Given the description of an element on the screen output the (x, y) to click on. 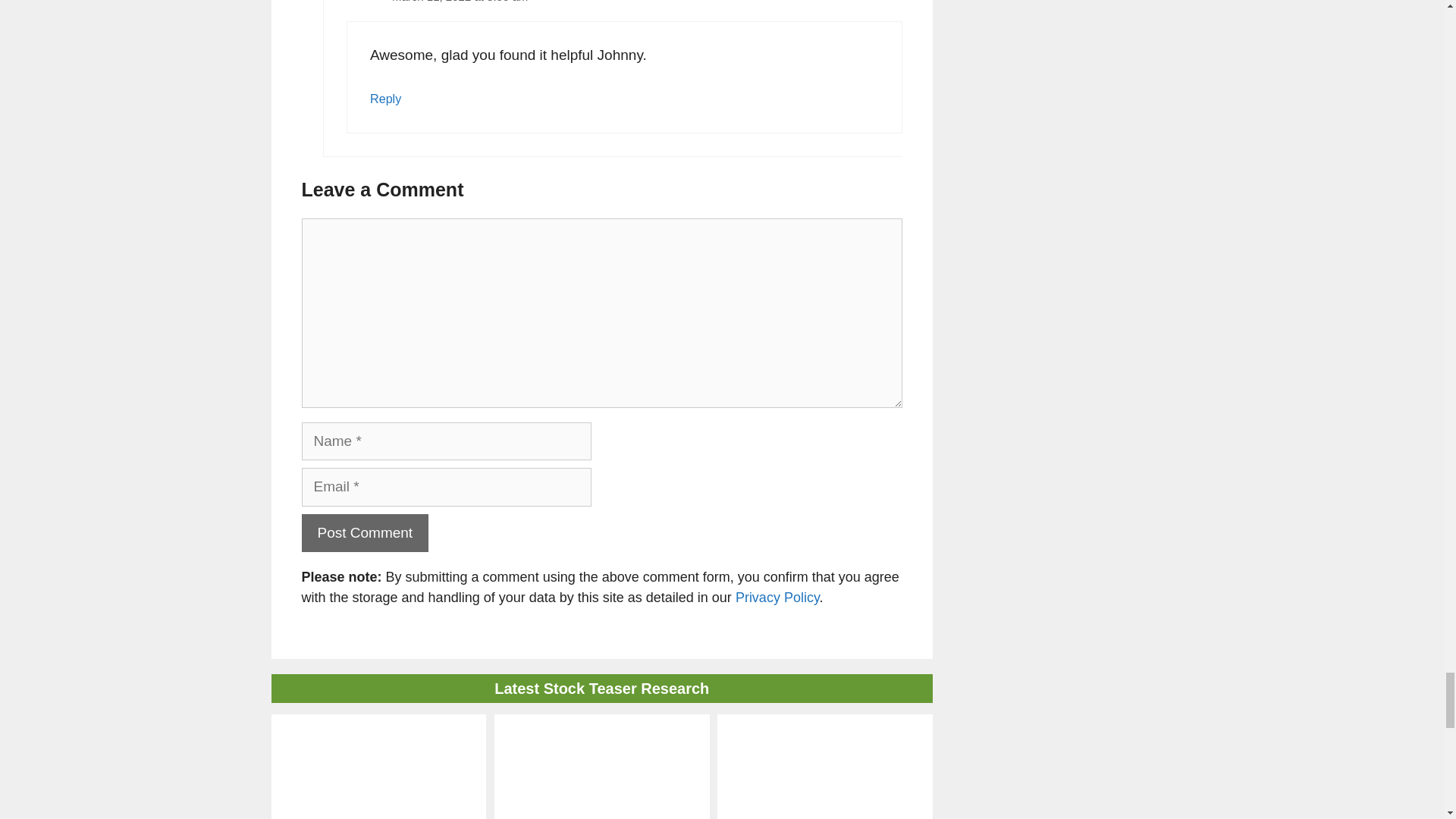
March 11, 2022 at 8:00 am (459, 1)
Post Comment (365, 533)
